Given the description of an element on the screen output the (x, y) to click on. 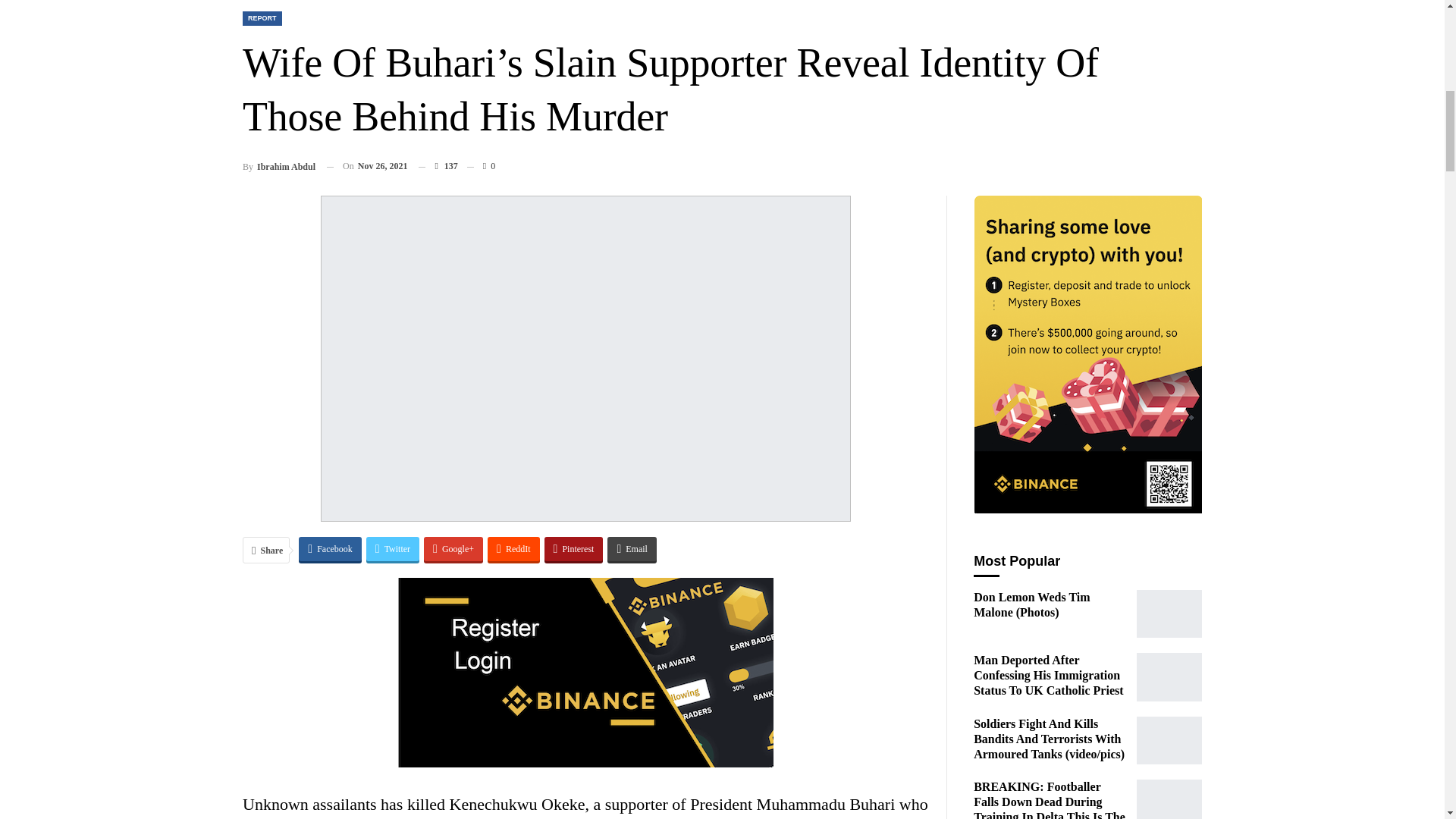
Browse Author Articles (279, 166)
